Given the description of an element on the screen output the (x, y) to click on. 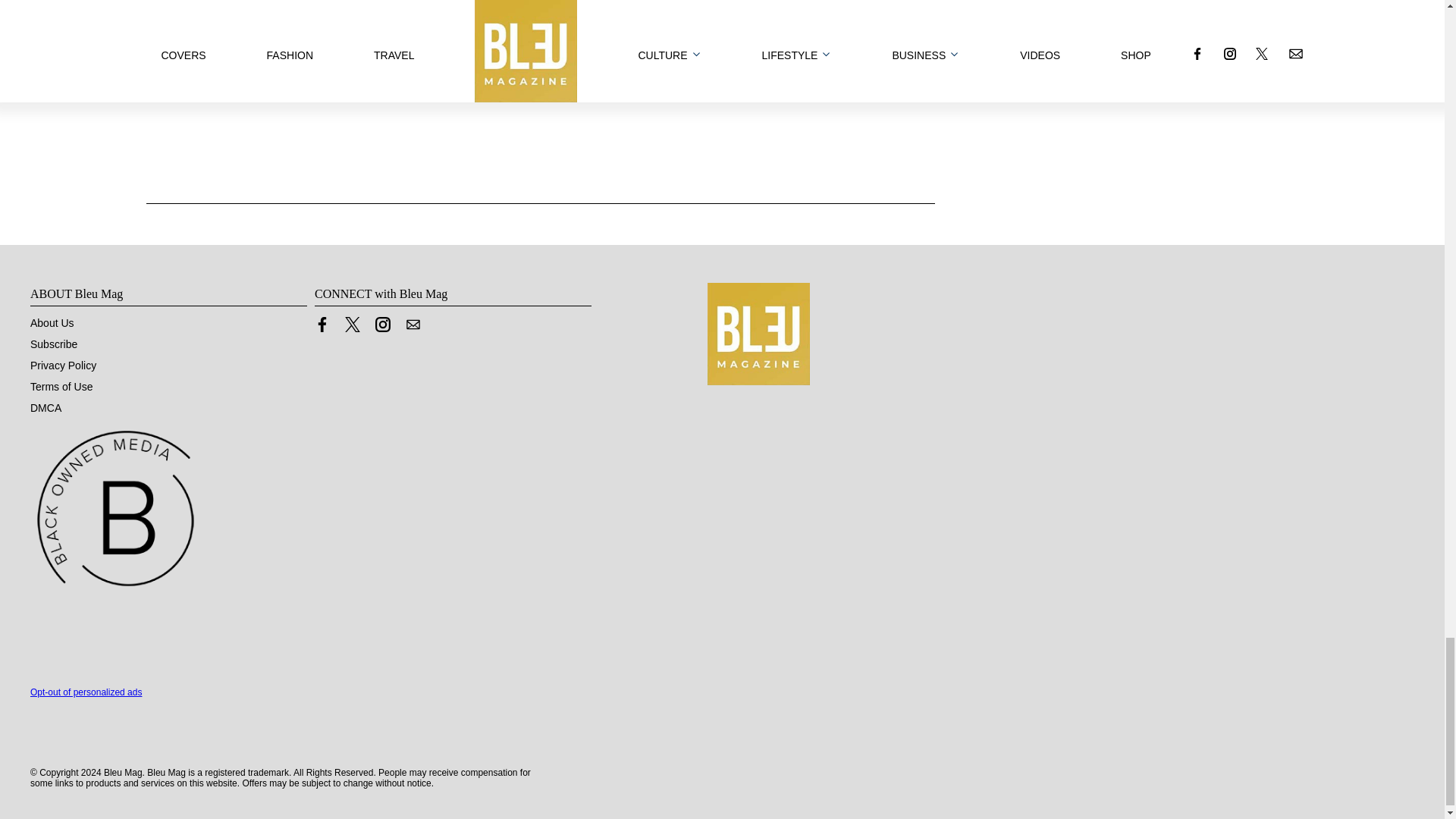
Link to Instagram (382, 324)
Link to X (352, 324)
Contact us by Email (413, 324)
DMCA (45, 408)
Link to Facebook (322, 324)
Terms of Use (61, 386)
Privacy Policy (63, 365)
Subscribe (53, 344)
About Us (52, 322)
